Given the description of an element on the screen output the (x, y) to click on. 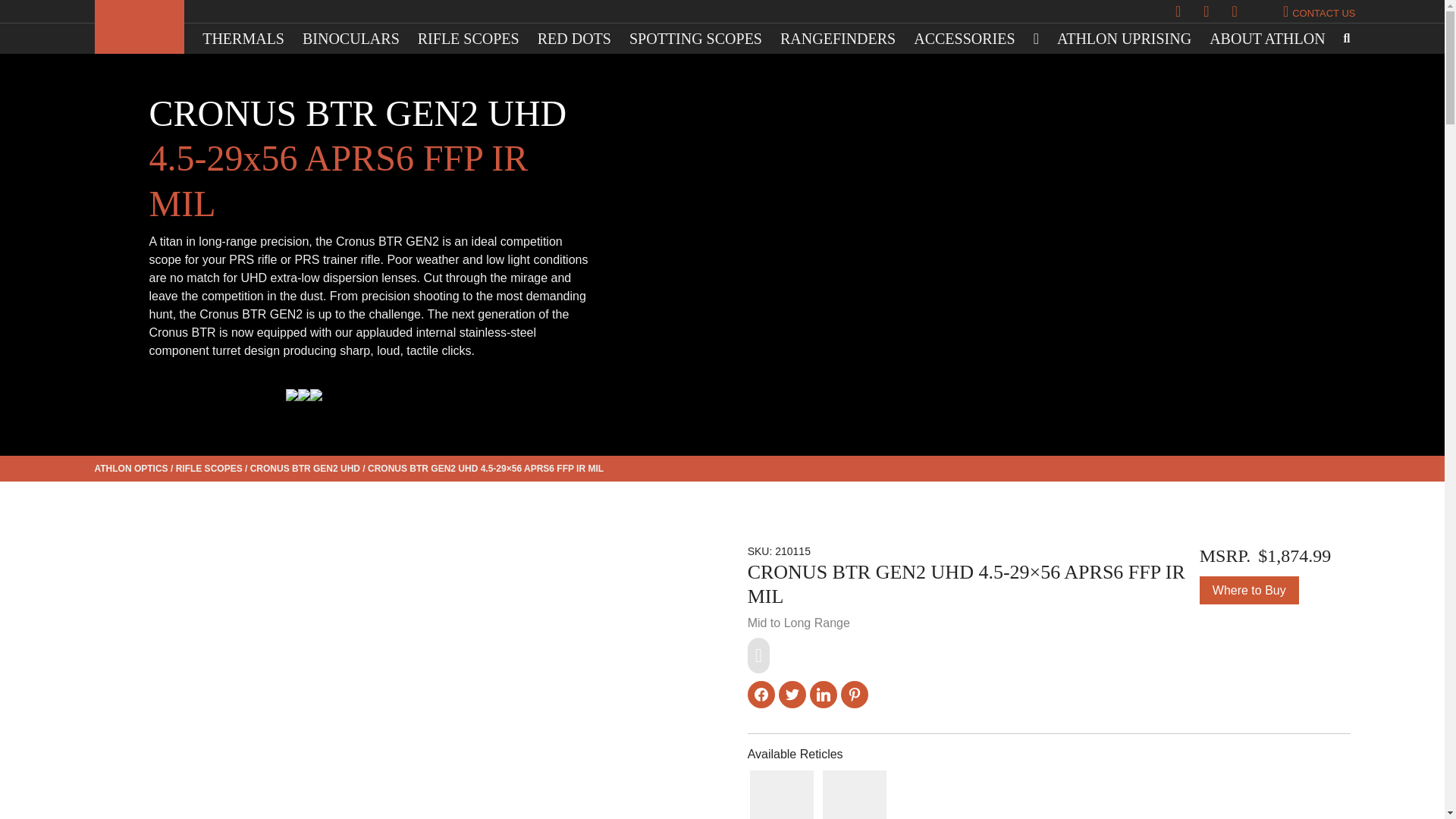
CONTACT US (1319, 11)
Click to View (781, 794)
Share on Facebook (761, 694)
Go to the RIFLE SCOPES Product Category archives. (209, 468)
Go to the CRONUS BTR GEN2 UHD Product Category archives. (304, 468)
Go to Athlon Optics. (130, 468)
contactus (1319, 11)
Click to View (854, 794)
Share on Pinterest (854, 694)
Share on LinkedIn (823, 694)
